Given the description of an element on the screen output the (x, y) to click on. 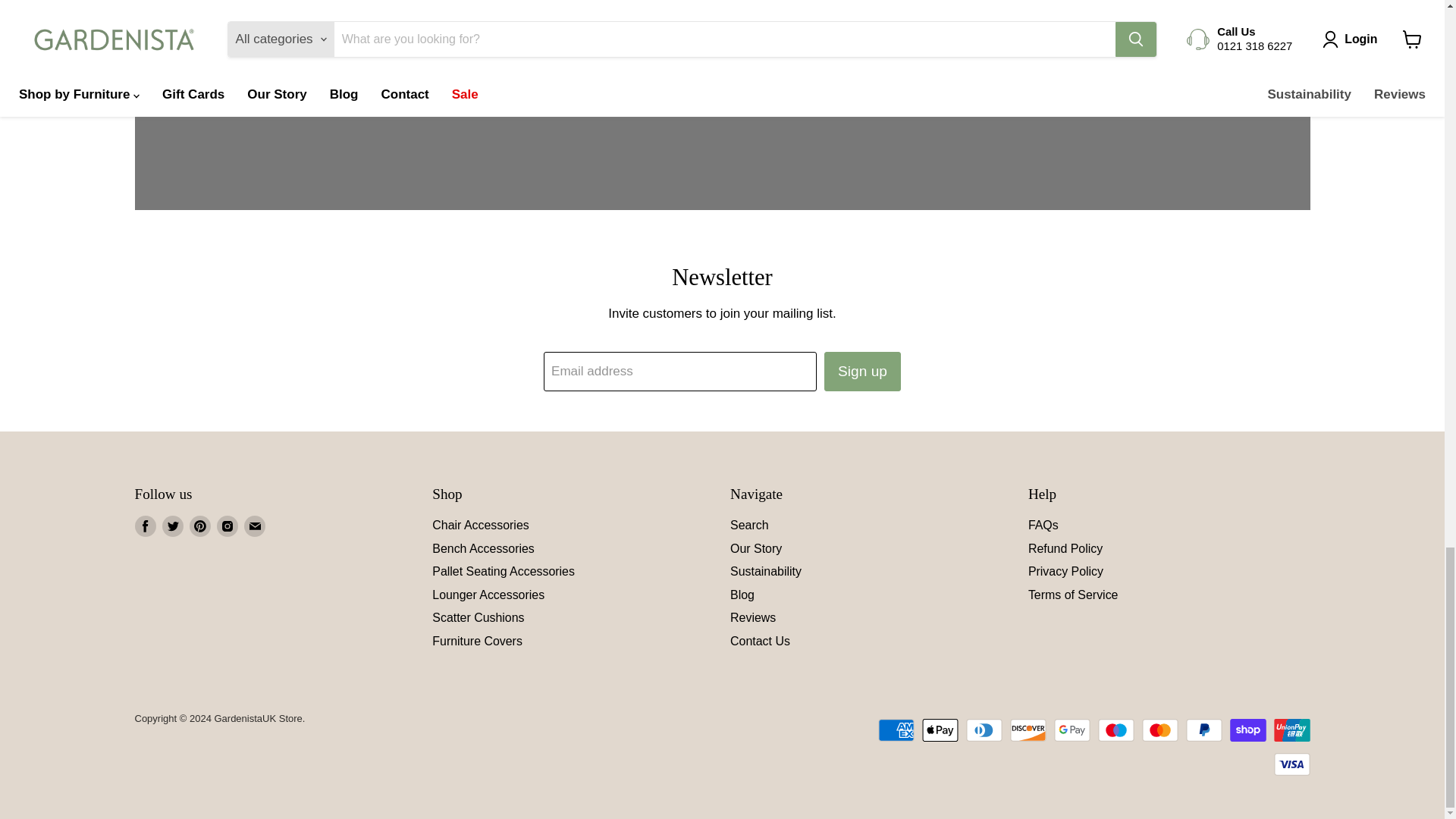
Maestro (1115, 730)
Instagram (227, 526)
Pinterest (200, 526)
Twitter (172, 526)
Email (254, 526)
Diners Club (984, 730)
Mastercard (1159, 730)
Discover (1028, 730)
Google Pay (1072, 730)
American Express (895, 730)
Apple Pay (939, 730)
Facebook (145, 526)
